Given the description of an element on the screen output the (x, y) to click on. 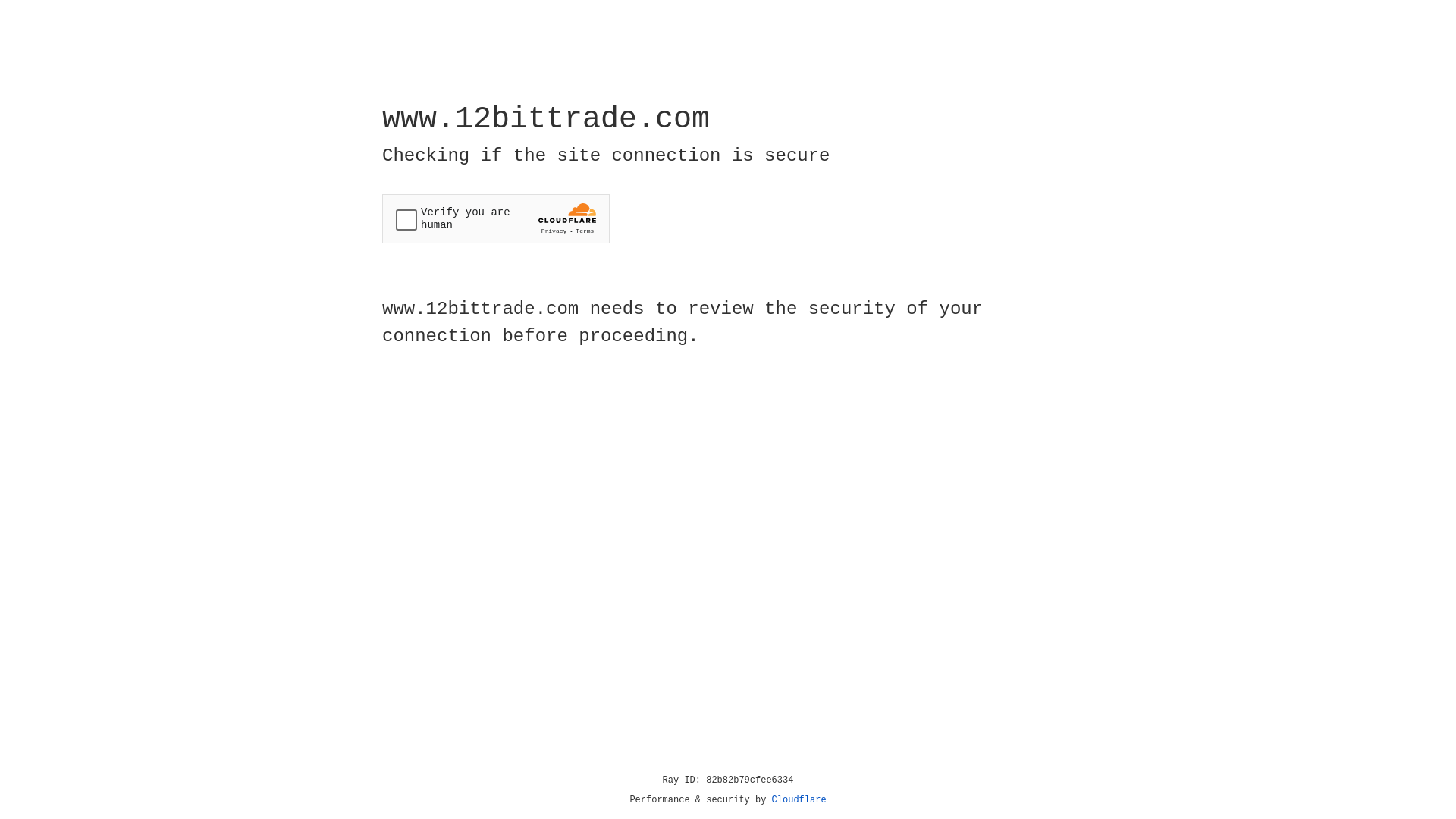
Cloudflare Element type: text (798, 799)
Widget containing a Cloudflare security challenge Element type: hover (495, 218)
